Given the description of an element on the screen output the (x, y) to click on. 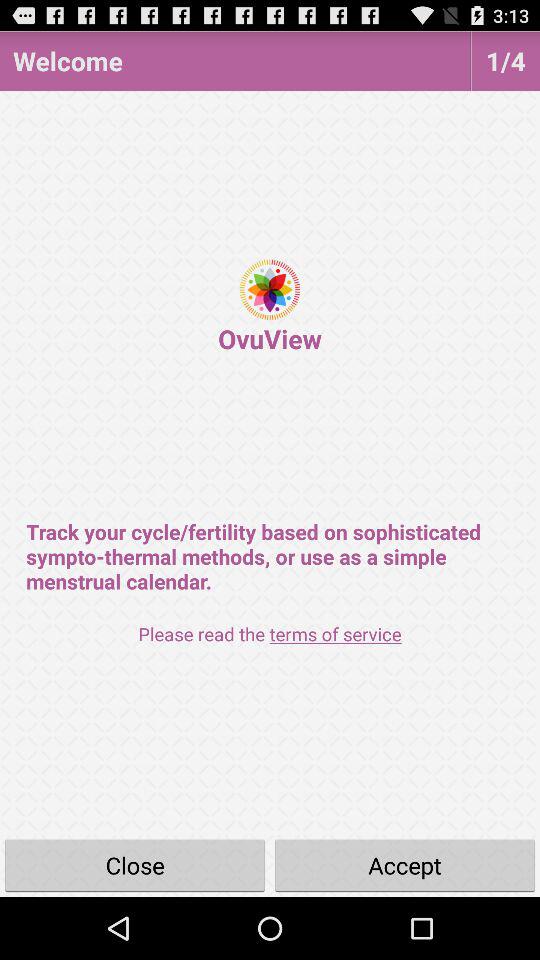
click item next to close button (405, 864)
